Given the description of an element on the screen output the (x, y) to click on. 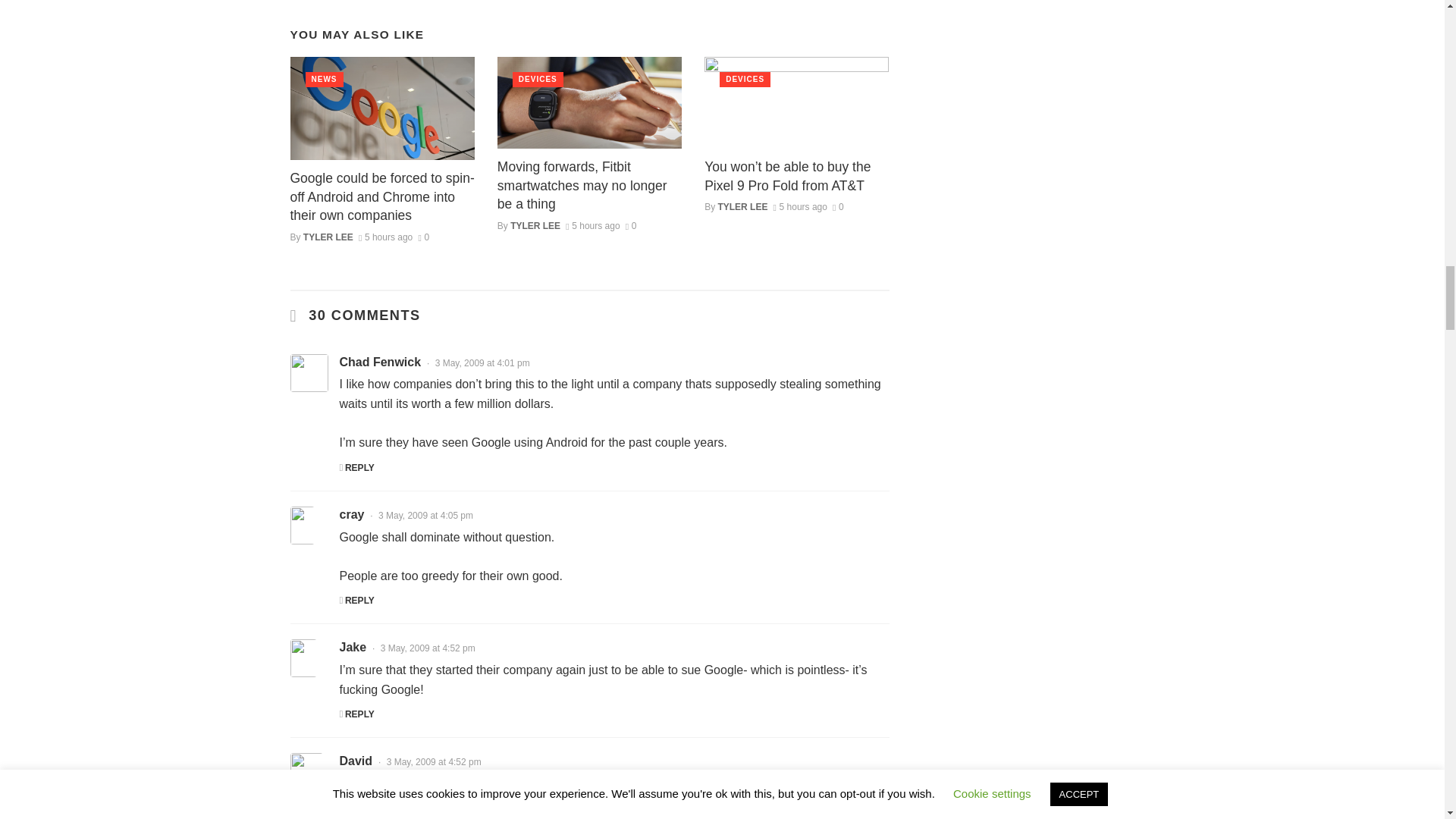
0 Comments (423, 236)
August 14, 2024 at 12:45 am (385, 236)
August 14, 2024 at 12:30 am (593, 225)
August 14, 2024 at 12:23 am (800, 206)
0 Comments (838, 206)
0 Comments (631, 225)
